Given the description of an element on the screen output the (x, y) to click on. 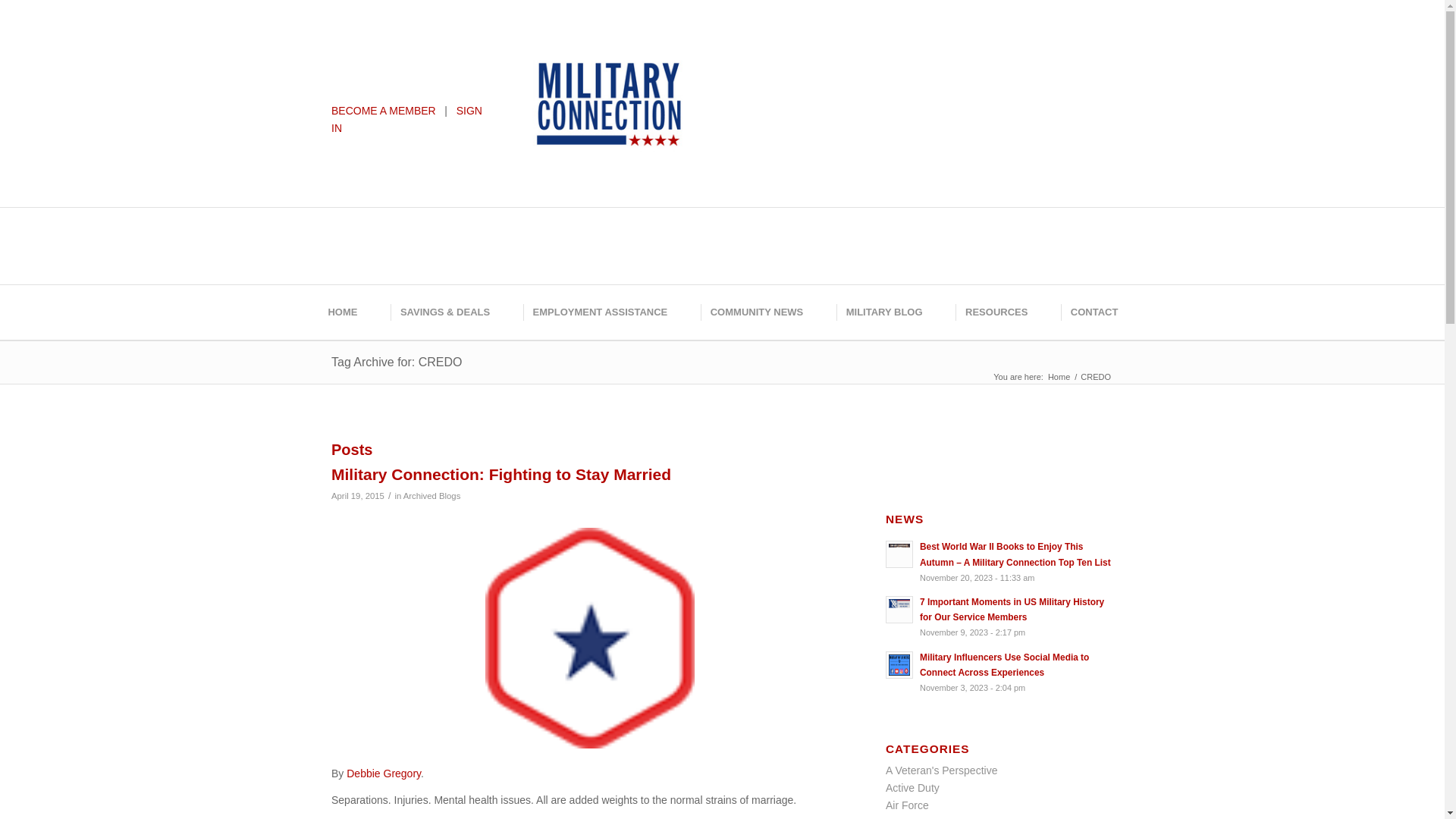
Permanent Link: Tag Archive for: CREDO (397, 361)
RESOURCES (995, 311)
Tag Archive for: CREDO (397, 361)
Pinterest (804, 48)
A Veteran's Perspective (941, 770)
Active Duty (912, 787)
Air Force (906, 805)
